Given the description of an element on the screen output the (x, y) to click on. 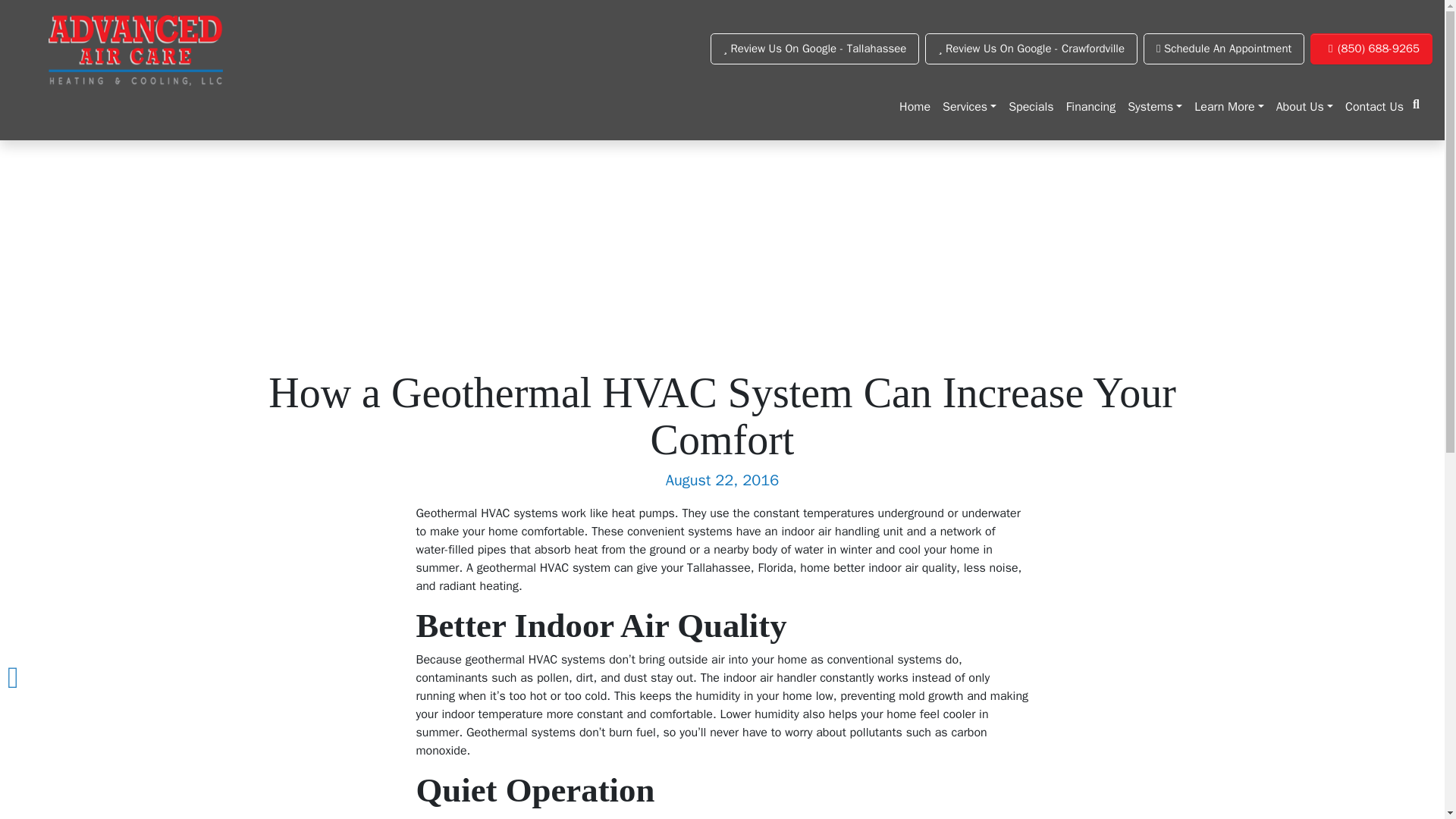
Review Us On Google - Crawfordville (1030, 48)
Systems (1154, 106)
Schedule An Appointment (1223, 48)
Financing (1090, 106)
Learn More (1228, 106)
Specials (1031, 106)
Home (914, 106)
Services (969, 106)
Review Us On Google - Tallahassee (814, 48)
